Given the description of an element on the screen output the (x, y) to click on. 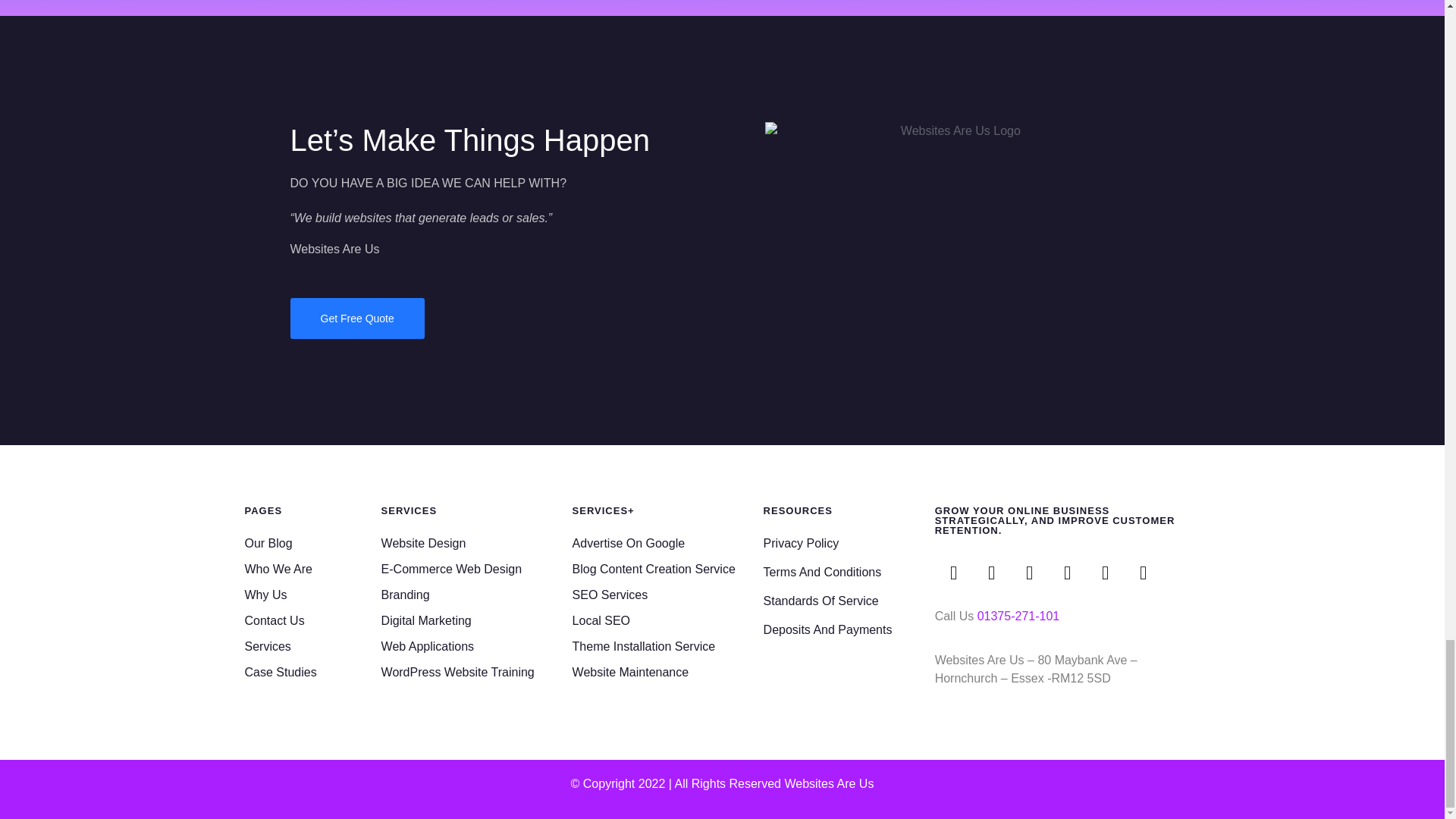
Website Design (476, 543)
Get Free Quote (356, 318)
Who We Are (312, 569)
Case Studies (312, 672)
Our Blog (312, 543)
Contact Us (312, 620)
Services (312, 647)
E-Commerce Web Design (476, 569)
Why Us (312, 595)
